Given the description of an element on the screen output the (x, y) to click on. 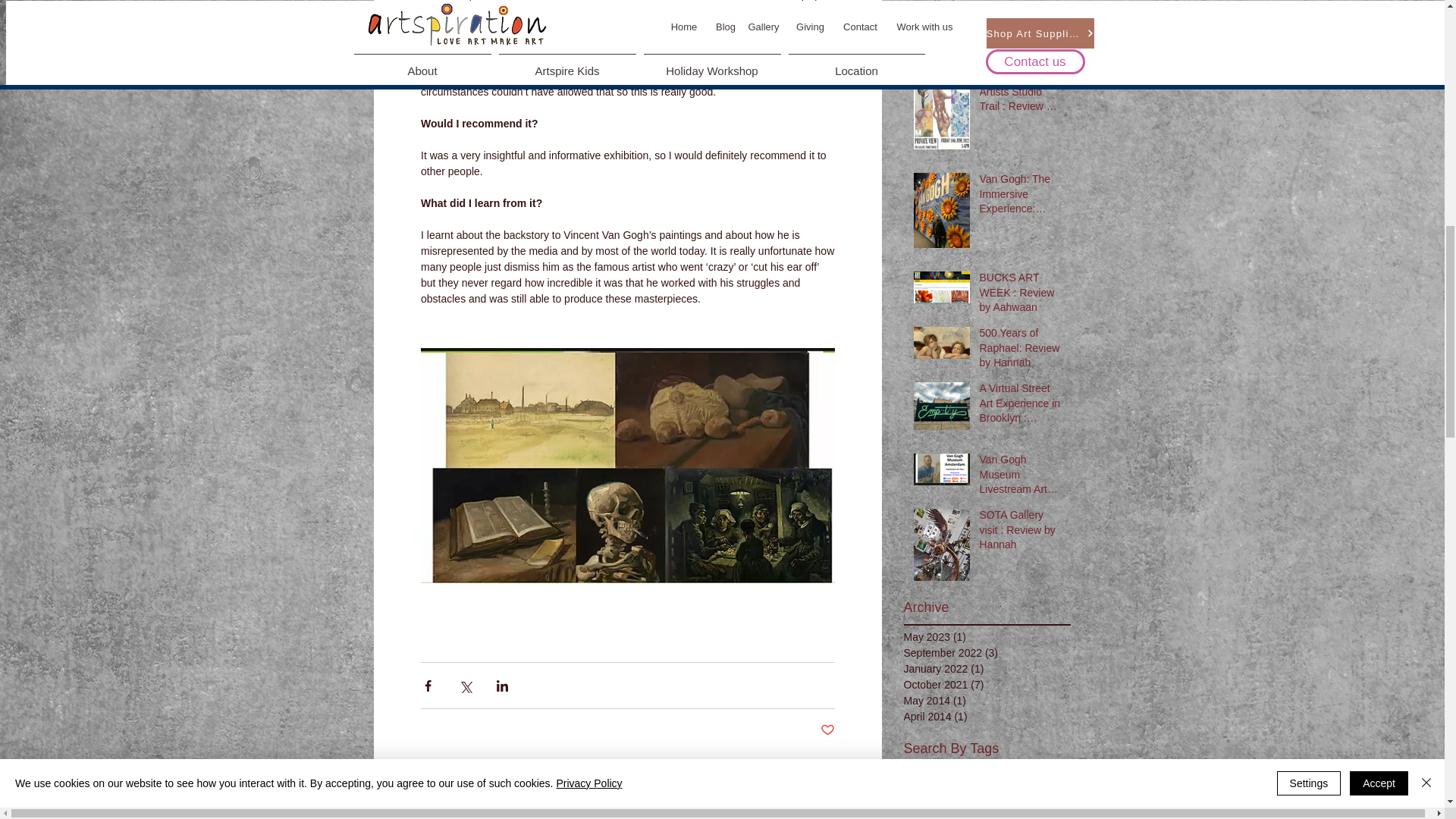
Whiteknights Artists Studio Trail : Review by Anuji (1020, 94)
Tate St Ives Review - Ad Minoliti- review by Amy (1020, 11)
Post not marked as liked (827, 730)
Van Gogh: The Immersive Experience: Review by Sienna (1020, 196)
